Given the description of an element on the screen output the (x, y) to click on. 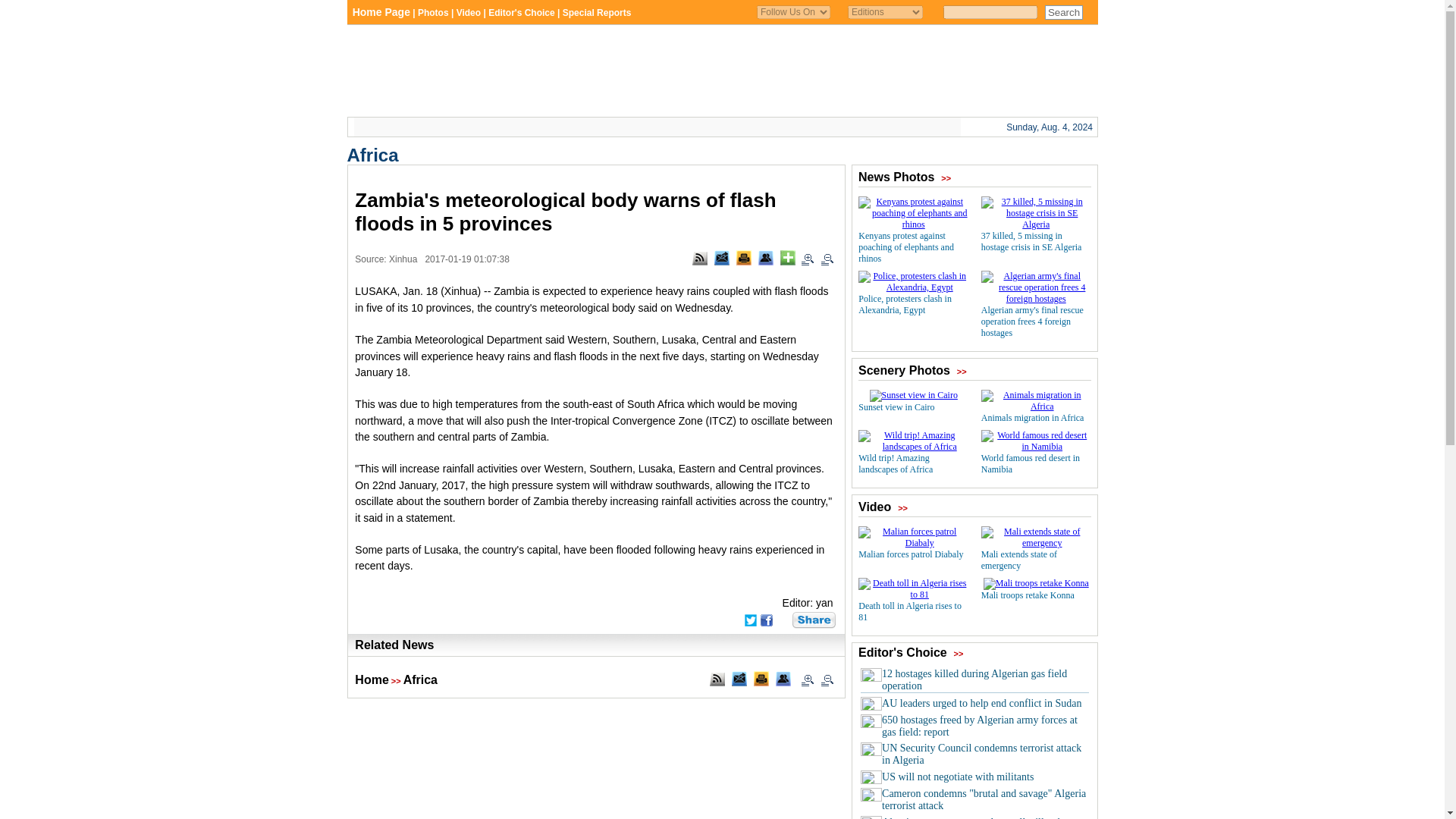
Feedback (721, 257)
RSS (700, 257)
More (787, 257)
Print (743, 257)
Copy URL (765, 257)
Africa (372, 154)
